Given the description of an element on the screen output the (x, y) to click on. 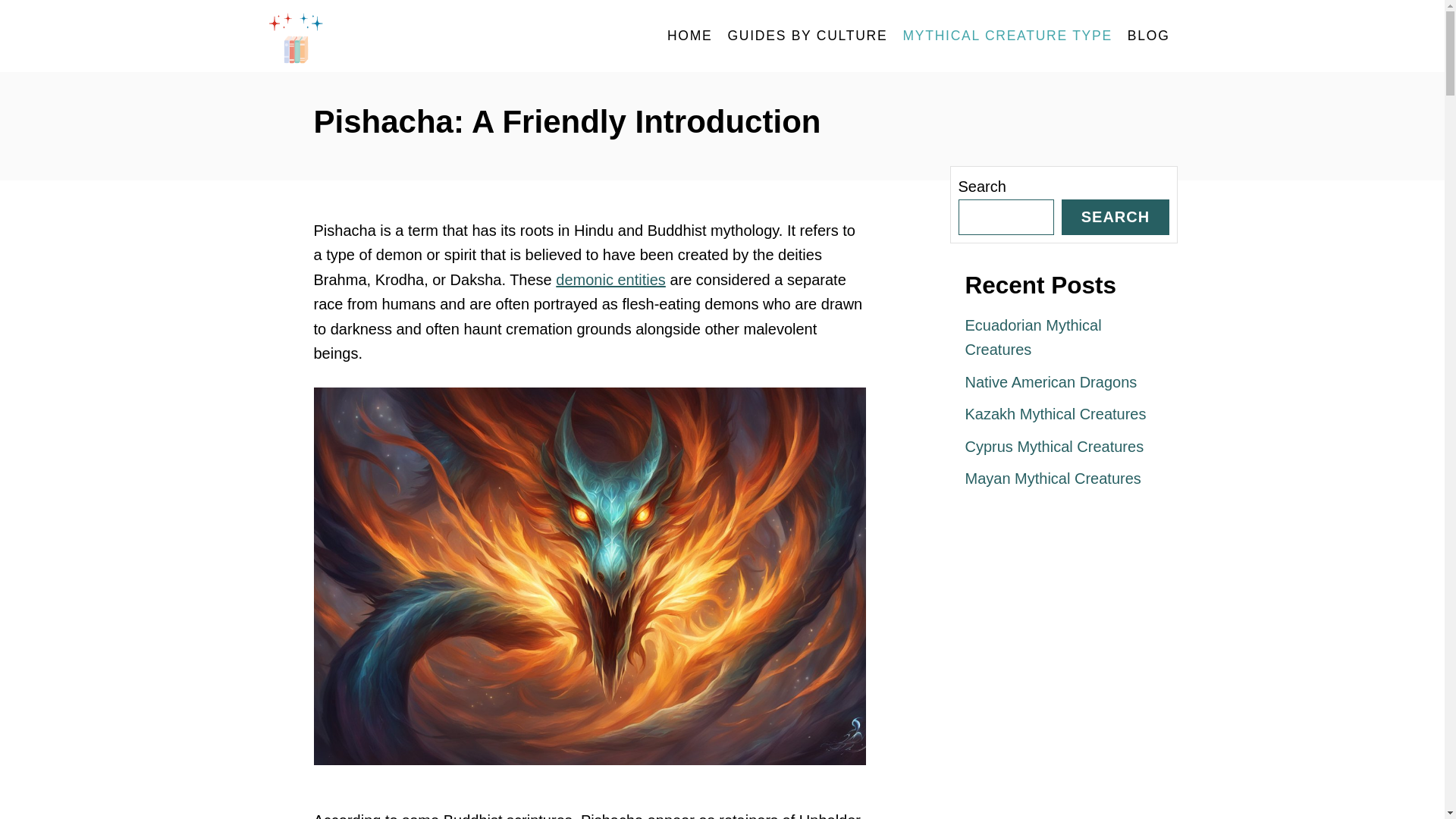
Mythical Encyclopedia (403, 36)
HOME (689, 36)
GUIDES BY CULTURE (807, 36)
MYTHICAL CREATURE TYPE (1007, 36)
